Given the description of an element on the screen output the (x, y) to click on. 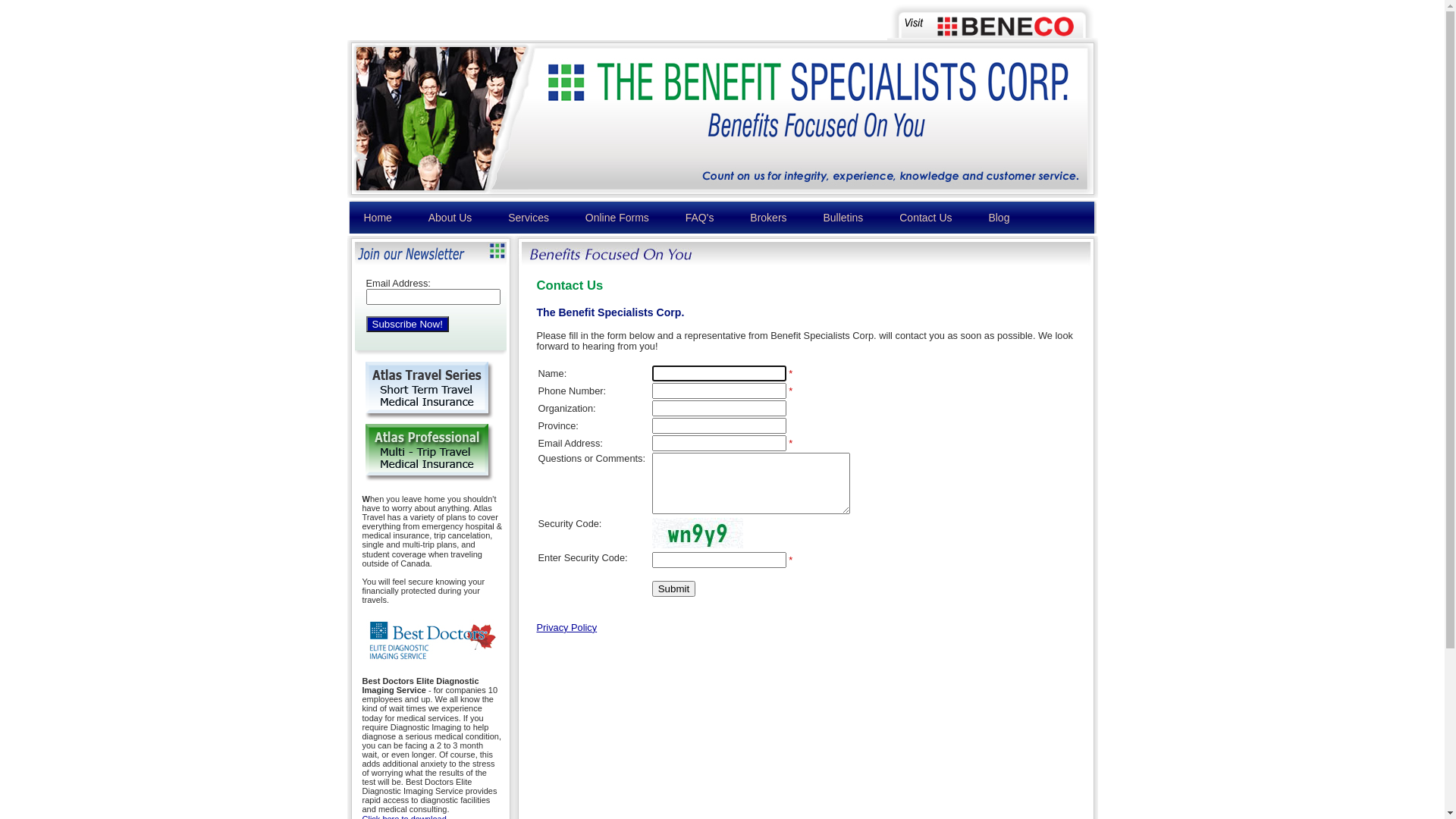
Contact Us Element type: text (925, 217)
FAQ's Element type: text (699, 217)
Services Element type: text (528, 217)
Online Forms Element type: text (617, 217)
Privacy Policy Element type: text (566, 627)
Subscribe Now! Element type: text (406, 324)
About Us Element type: text (450, 217)
Bulletins Element type: text (842, 217)
Home Element type: text (378, 217)
Brokers Element type: text (767, 217)
Submit Element type: text (673, 588)
Blog Element type: text (998, 217)
